Given the description of an element on the screen output the (x, y) to click on. 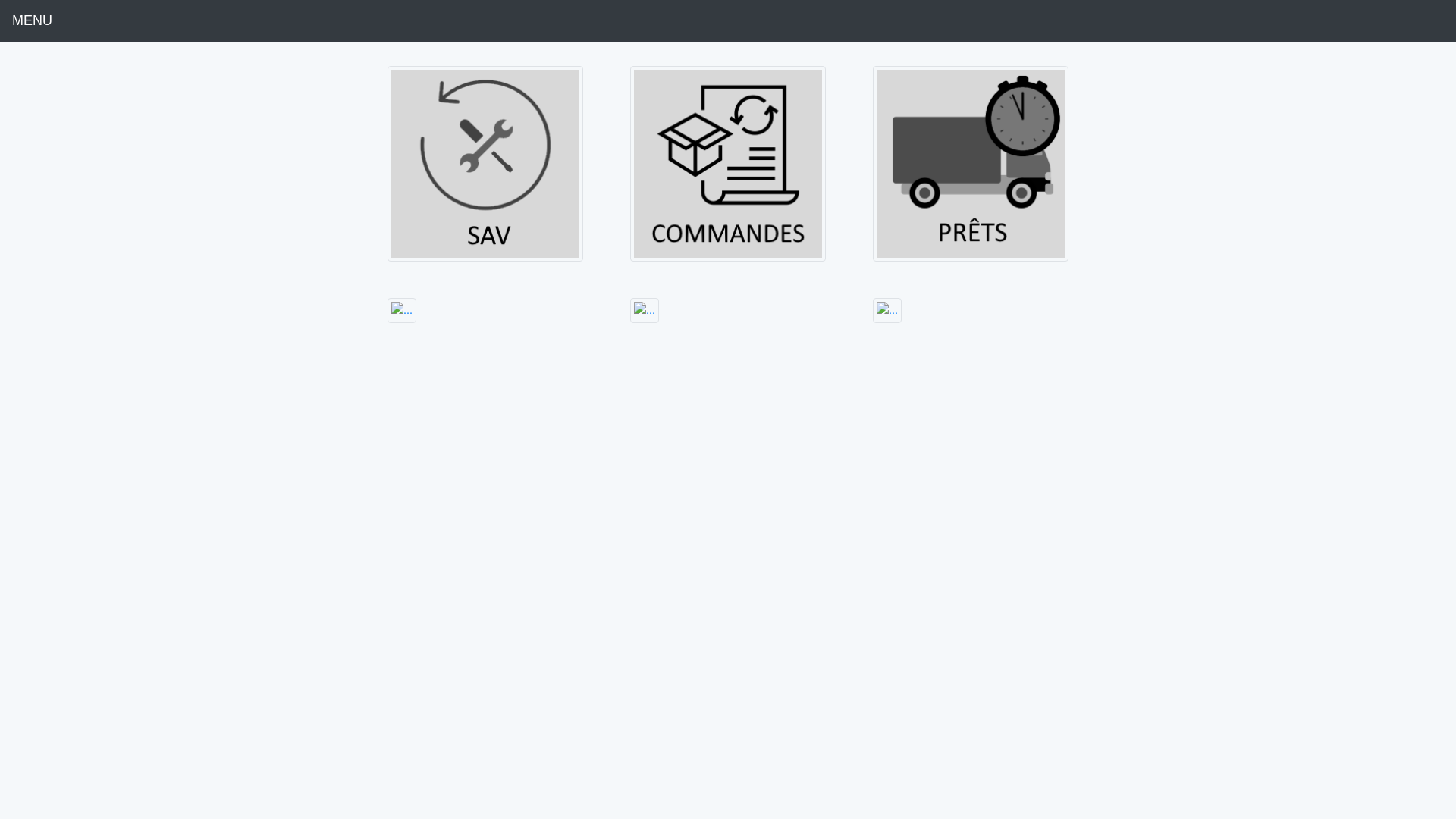
MENU Element type: text (32, 20)
